Given the description of an element on the screen output the (x, y) to click on. 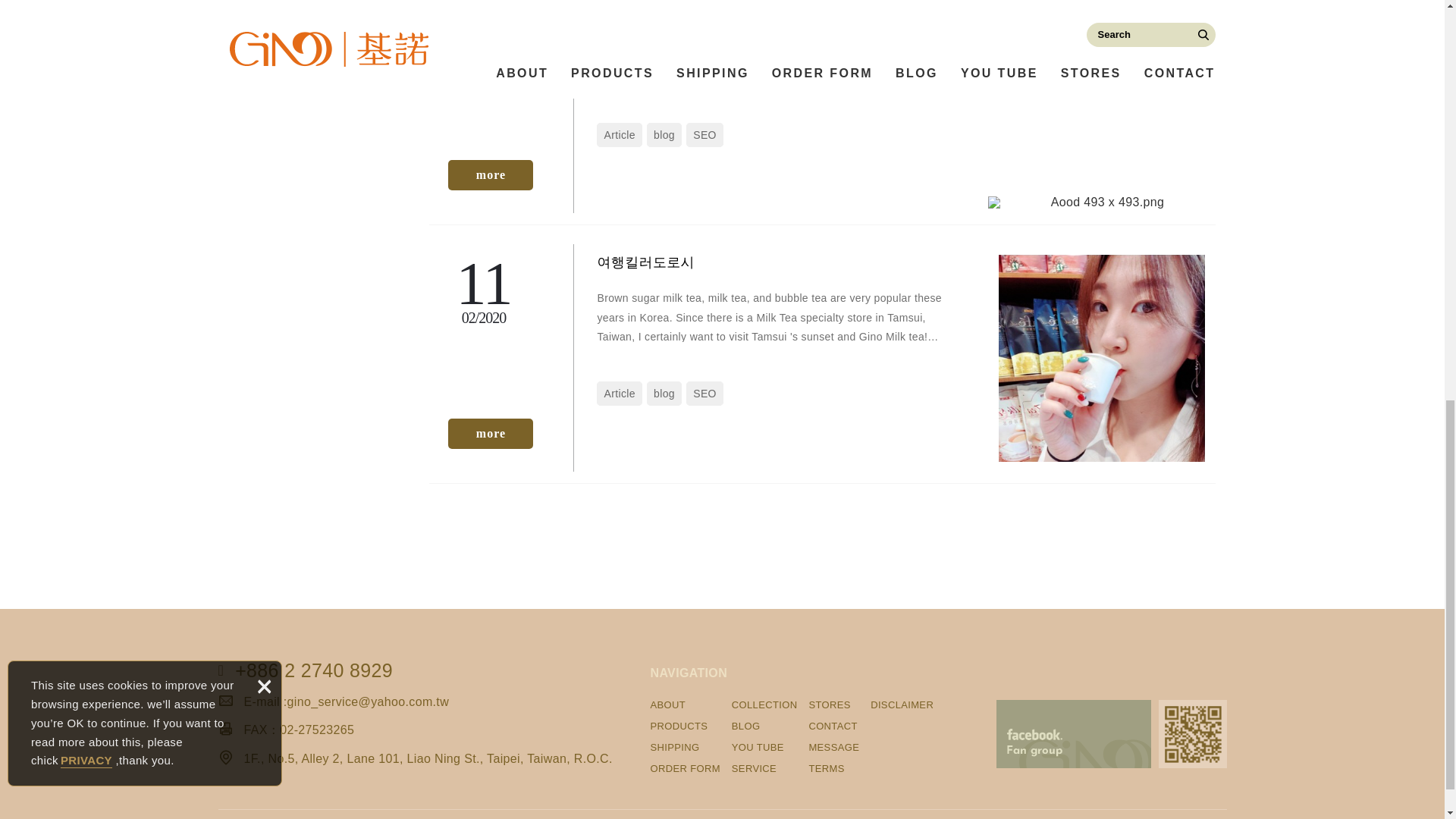
AOOD (490, 174)
Aood 493 x 493.png (1100, 202)
